Given the description of an element on the screen output the (x, y) to click on. 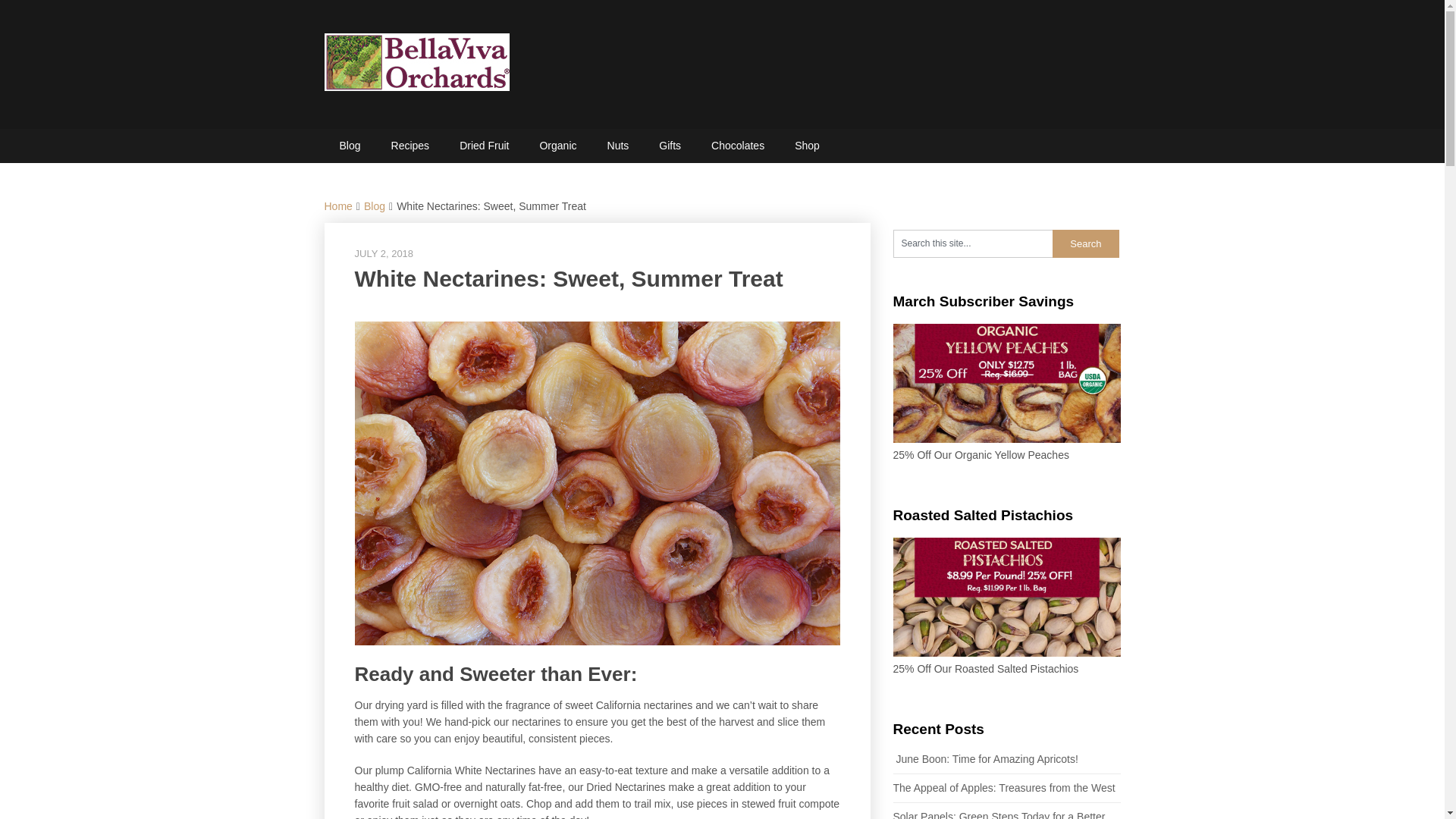
Search (1085, 243)
Search (1085, 243)
Gifts (669, 145)
Blog (374, 205)
Solar Panels: Green Steps Today for a Better Tomorrow (999, 814)
Roasted Salted Pistachios (1007, 653)
Shop (806, 145)
Recipes (410, 145)
Blog (349, 145)
Shop (806, 145)
 June Boon: Time for Amazing Apricots! (985, 758)
Chocolates (736, 145)
Organic Yellow Peaches (1007, 439)
Search this site... (972, 243)
The Appeal of Apples: Treasures from the West (1004, 787)
